Given the description of an element on the screen output the (x, y) to click on. 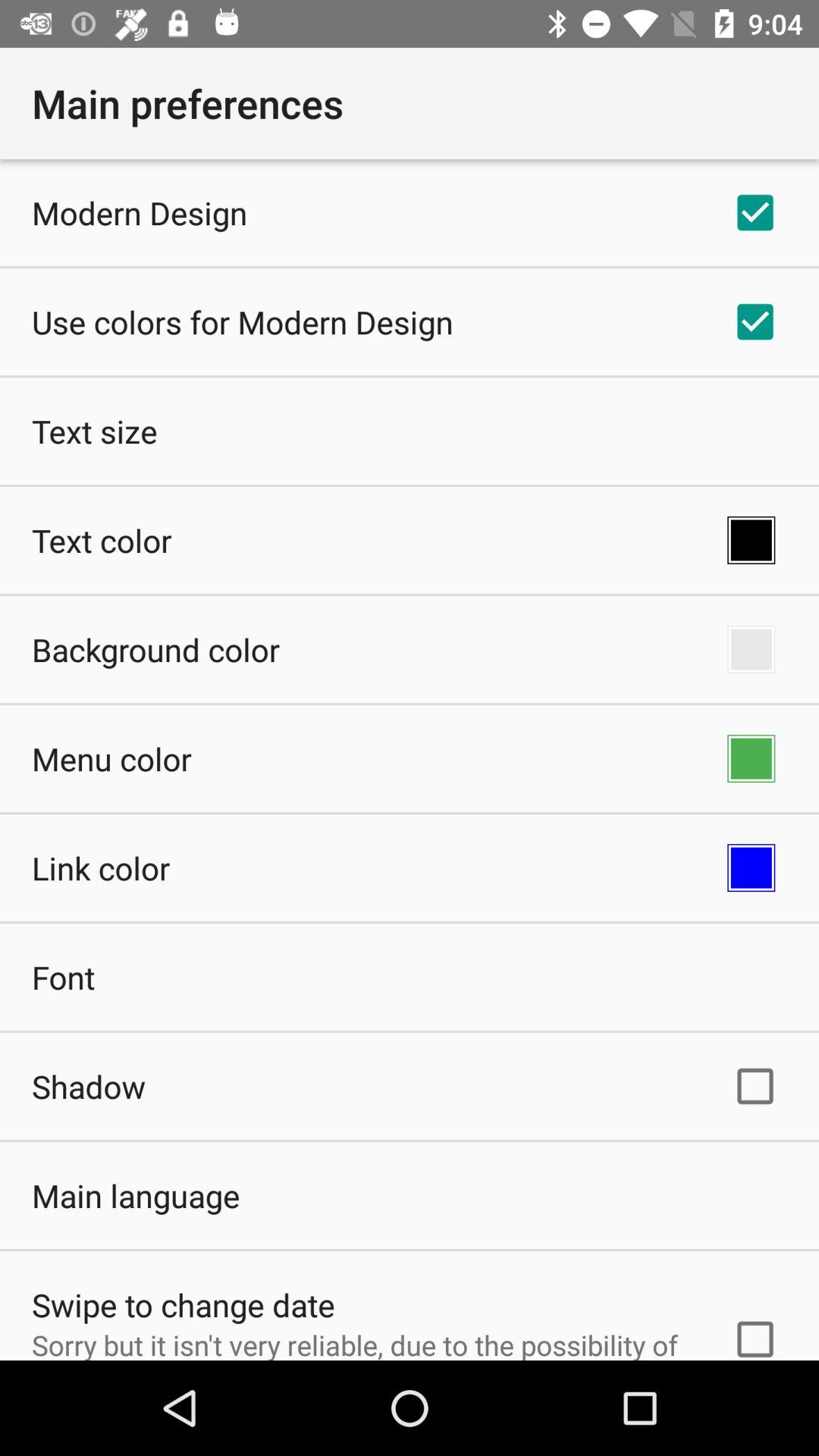
turn off the item next to the background color item (751, 649)
